Given the description of an element on the screen output the (x, y) to click on. 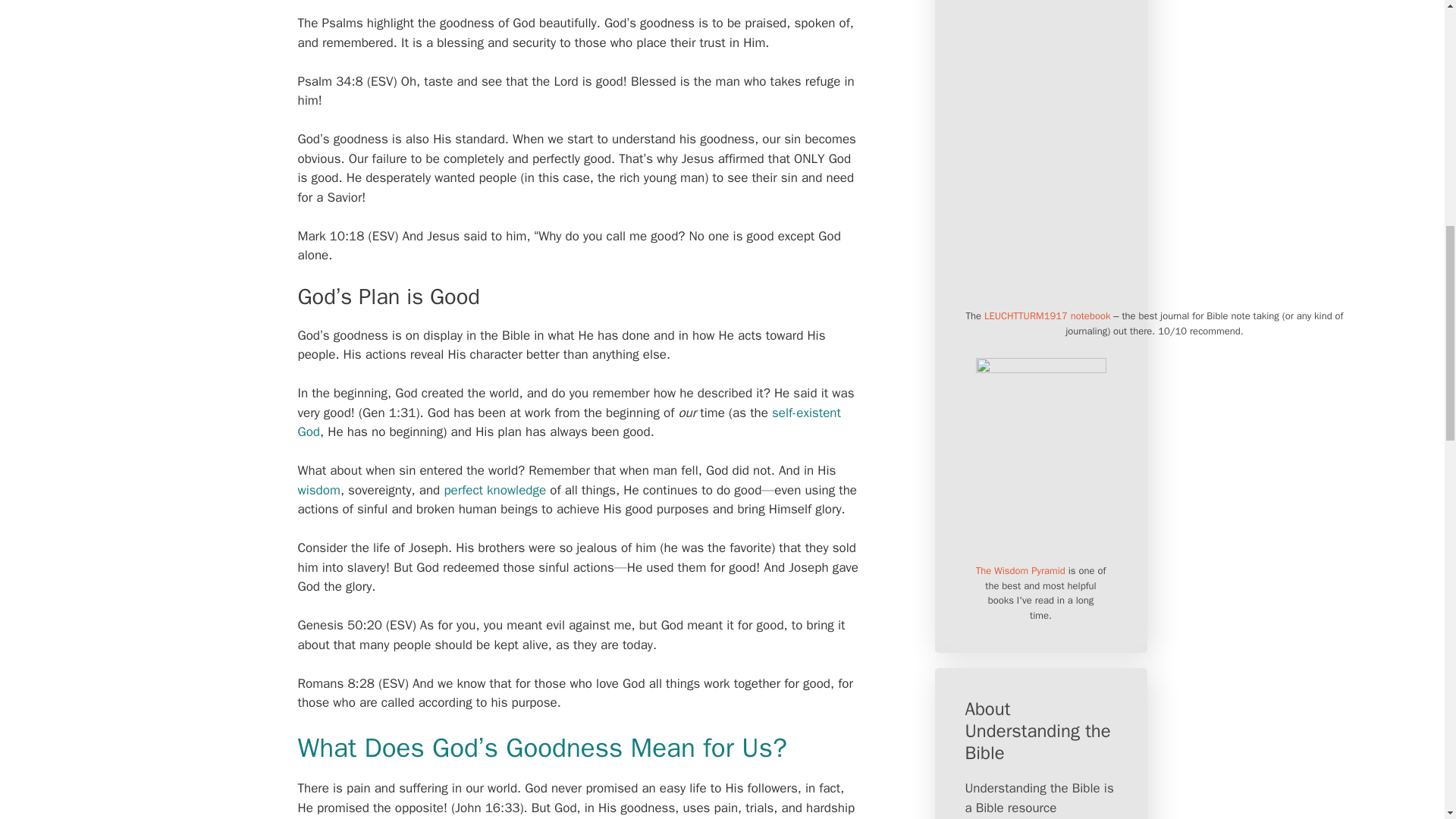
perfect knowledge (495, 489)
self-existent God (568, 422)
wisdom (318, 489)
